Given the description of an element on the screen output the (x, y) to click on. 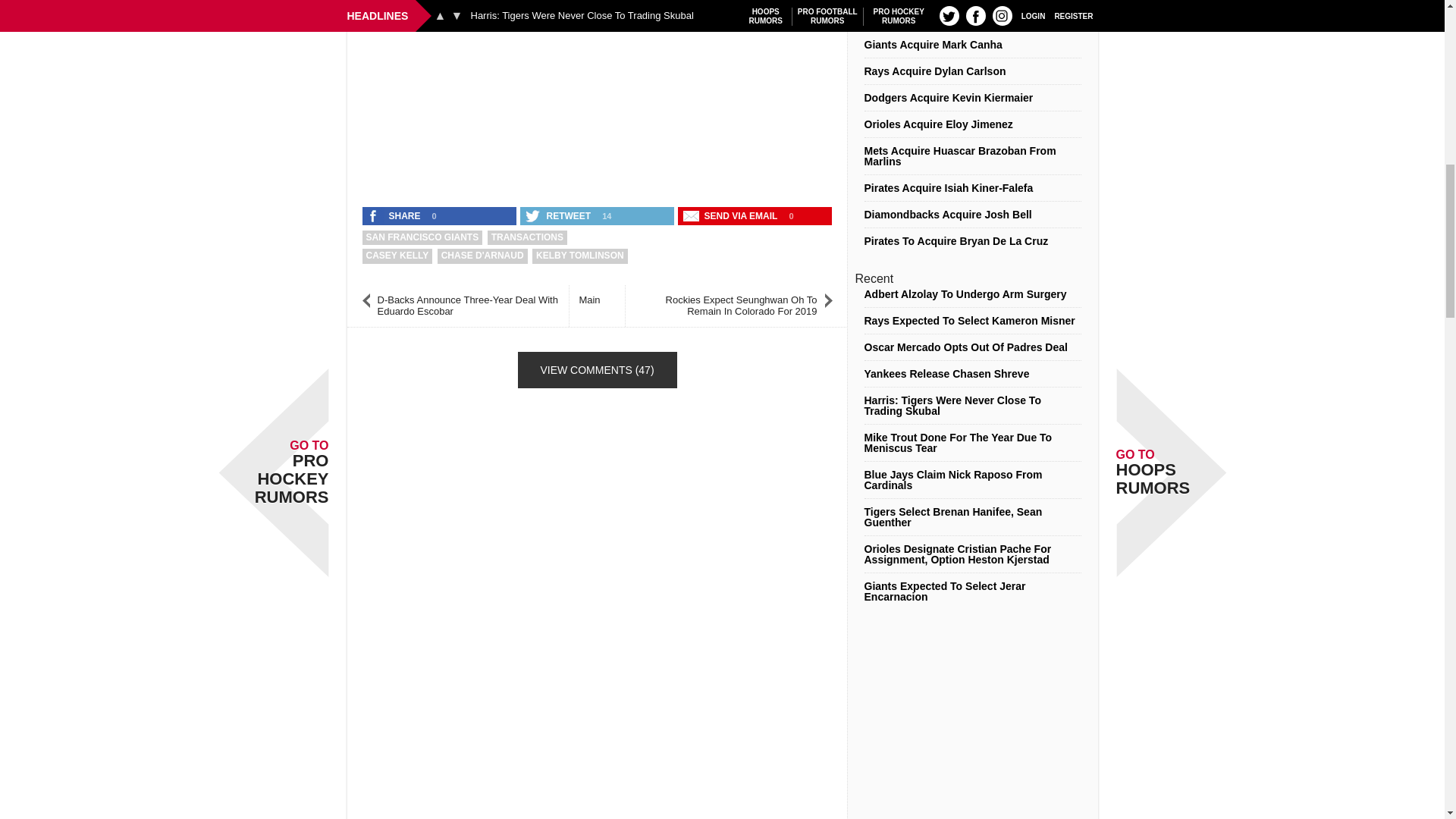
Retweet 'Giants Outright Five Players' on Twitter (558, 216)
Send Giants Outright Five Players with an email (732, 216)
Share 'Giants Outright Five Players' on Facebook (395, 216)
